Given the description of an element on the screen output the (x, y) to click on. 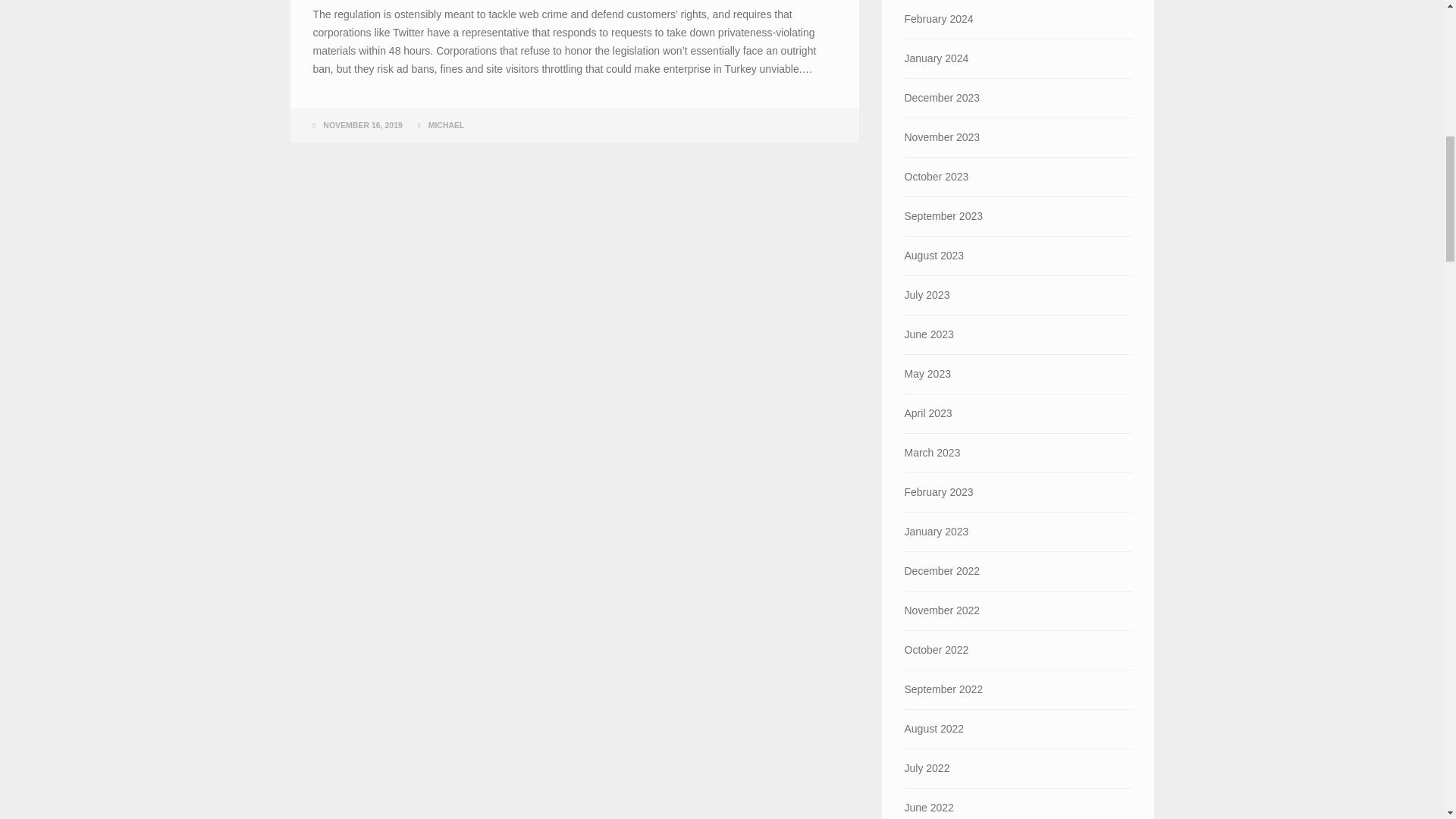
NOVEMBER 16, 2019 (362, 124)
December 2022 (1017, 571)
February 2024 (1017, 19)
October 2023 (1017, 177)
April 2023 (1017, 413)
MICHAEL (446, 124)
August 2023 (1017, 255)
December 2023 (1017, 97)
February 2023 (1017, 492)
July 2023 (1017, 295)
November 2023 (1017, 137)
September 2023 (1017, 216)
March 2023 (1017, 453)
January 2024 (1017, 58)
May 2023 (1017, 373)
